Given the description of an element on the screen output the (x, y) to click on. 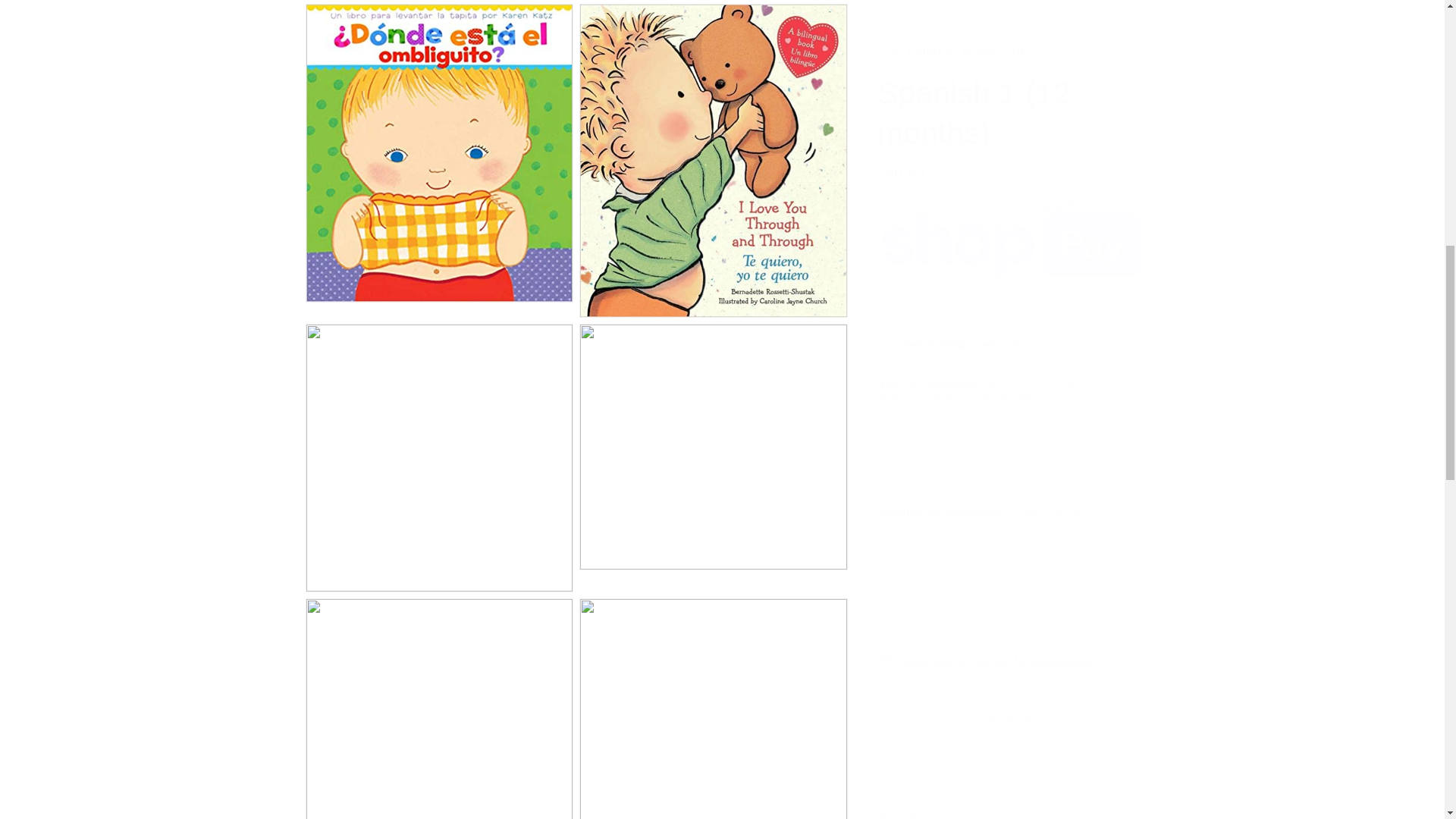
Open media 9 in modal (713, 701)
Open media 8 in modal (438, 701)
Open media 6 in modal (438, 442)
Open media 7 in modal (713, 442)
